Given the description of an element on the screen output the (x, y) to click on. 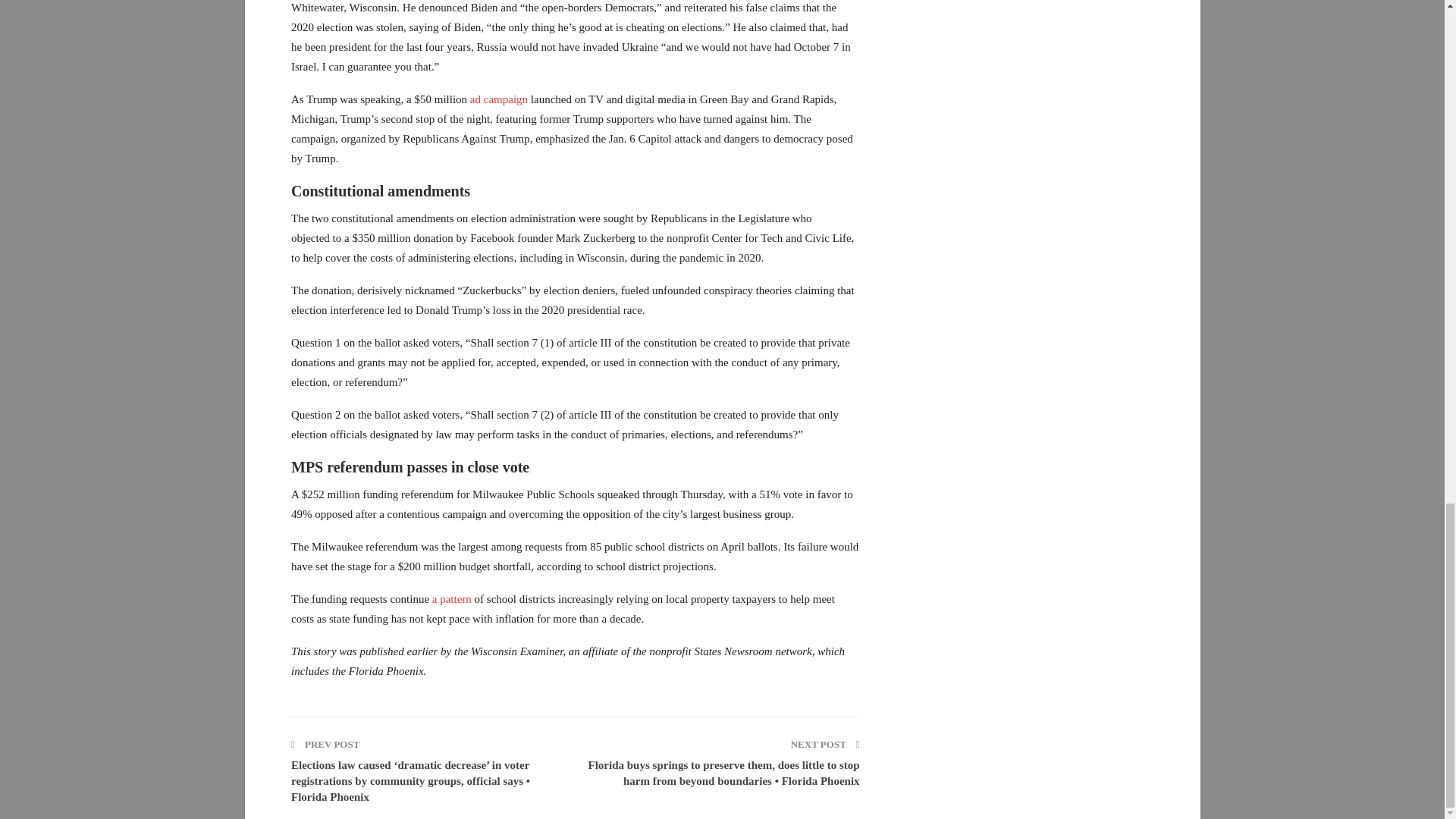
a pattern (451, 598)
ad campaign (498, 99)
